Given the description of an element on the screen output the (x, y) to click on. 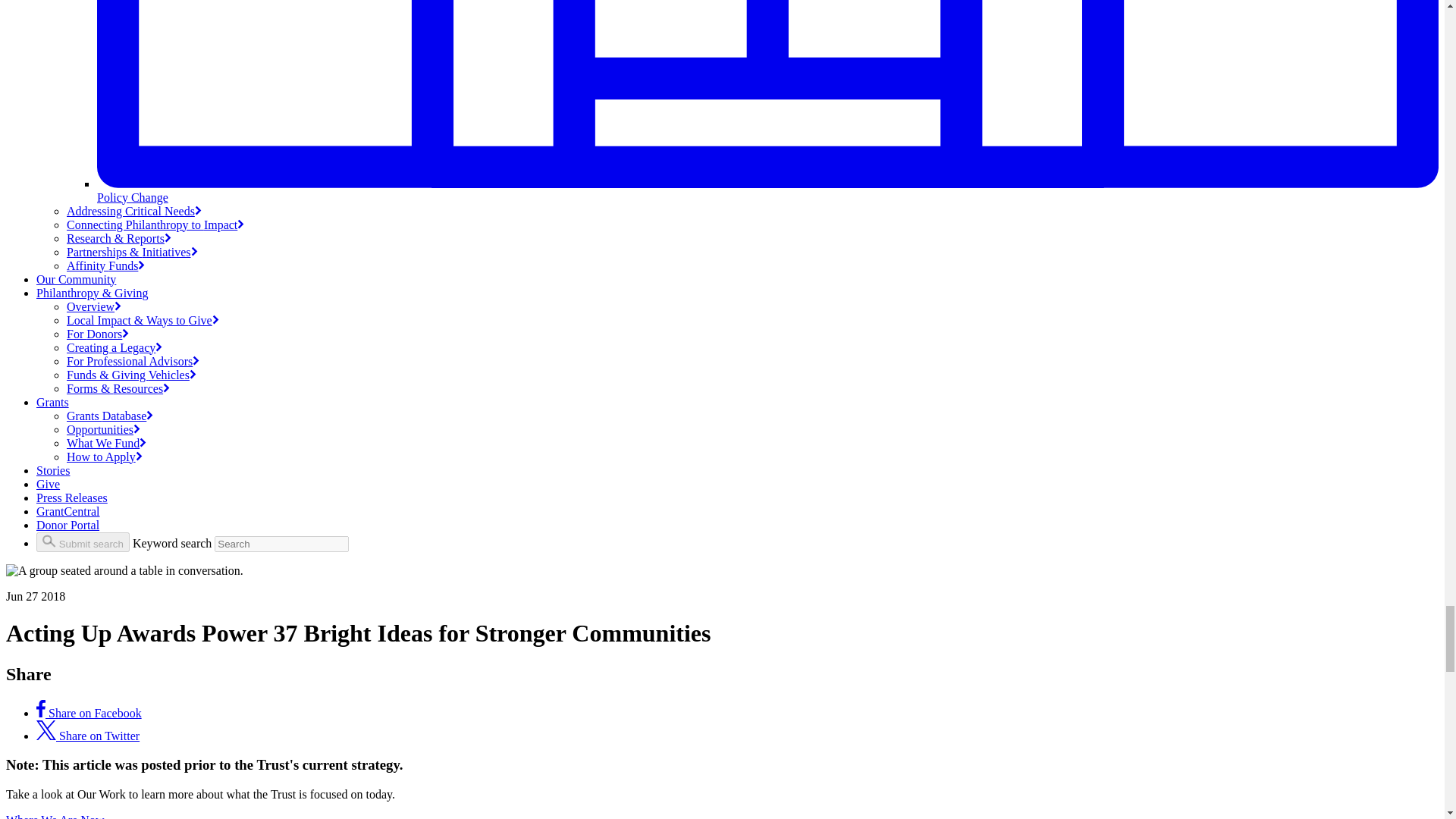
Our Community (76, 278)
Share on Facebook (88, 712)
For Donors (97, 333)
Creating a Legacy (113, 347)
Addressing Critical Needs (134, 210)
Connecting Philanthropy to Impact (155, 224)
For Professional Advisors (132, 360)
Affinity Funds (105, 265)
Overview (93, 306)
Share on Twitter (87, 735)
